Given the description of an element on the screen output the (x, y) to click on. 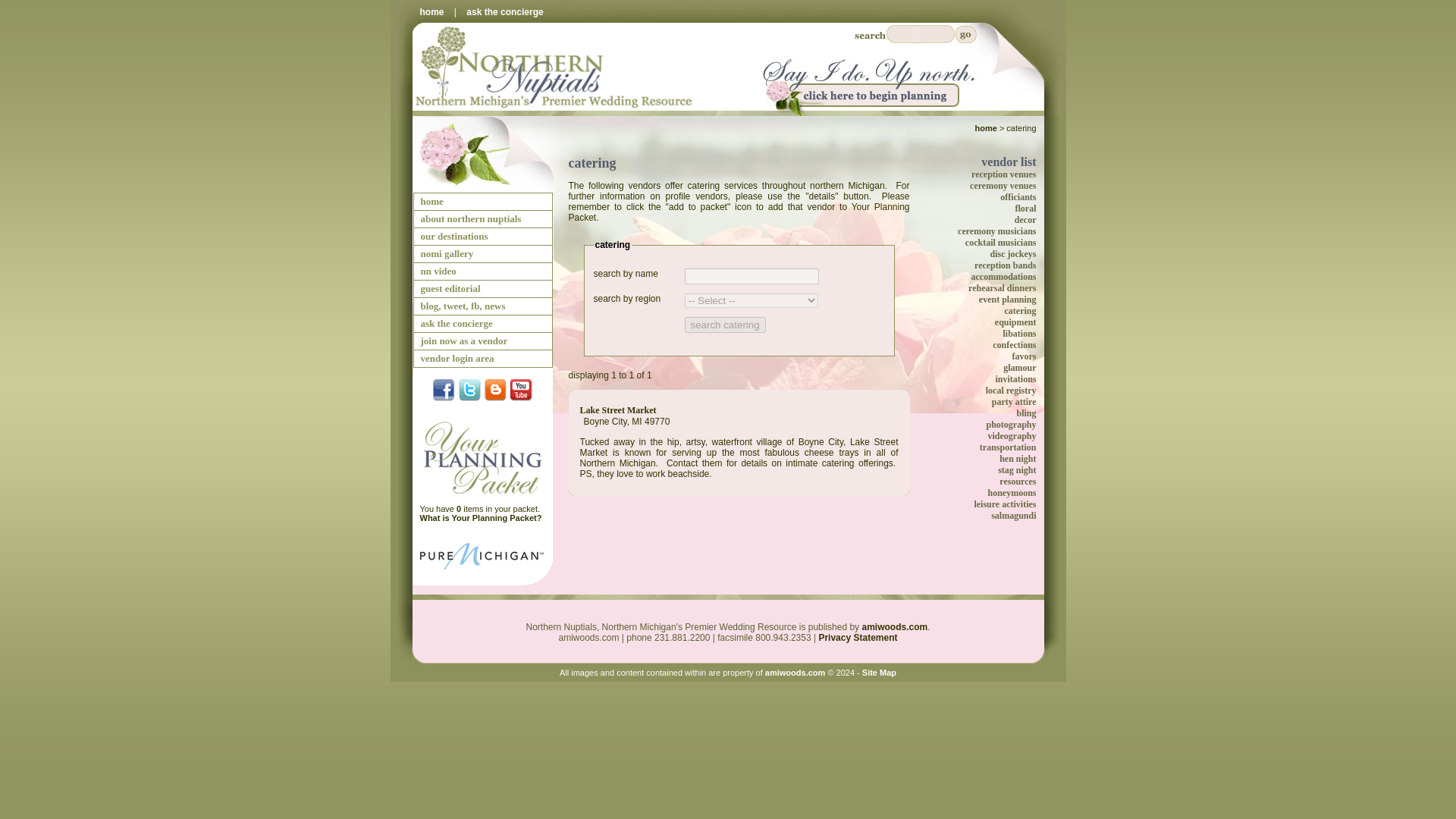
ask the concierge (504, 11)
home (481, 200)
nn video (481, 271)
nomi gallery (481, 253)
vendor login area (481, 357)
about northern nuptials (481, 218)
What is Your Planning Packet? (480, 517)
ceremony venues (1002, 185)
nn video (481, 271)
blog, tweet, fb, news (481, 305)
